Given the description of an element on the screen output the (x, y) to click on. 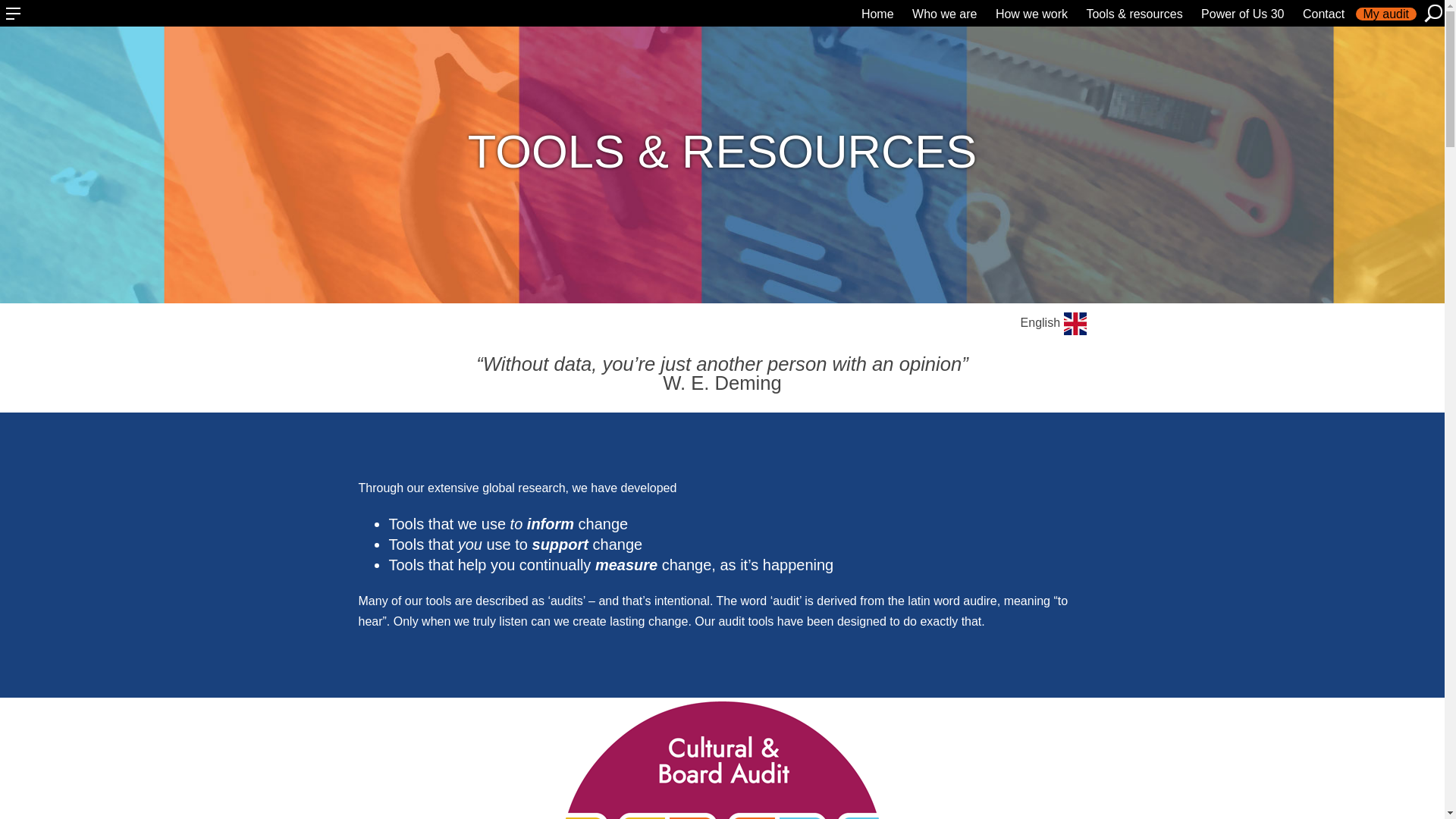
Home (877, 13)
My audit (1385, 13)
Who we are (944, 13)
Contact (1323, 13)
Power of Us 30 (1242, 13)
How we work (1031, 13)
Menu (13, 13)
